Given the description of an element on the screen output the (x, y) to click on. 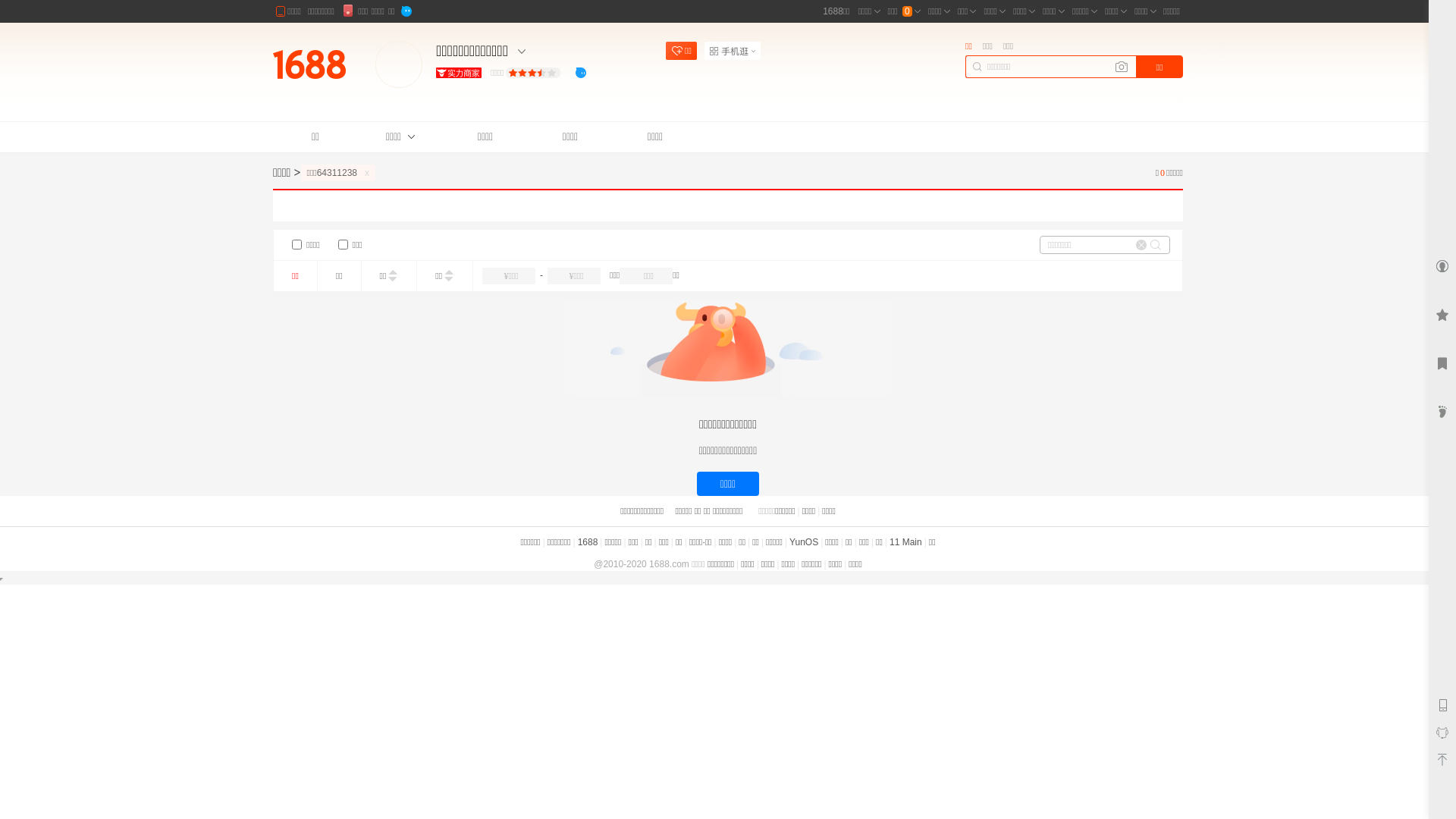
11 Main Element type: text (905, 541)
1688 Element type: text (587, 541)
YunOS Element type: text (803, 541)
